Given the description of an element on the screen output the (x, y) to click on. 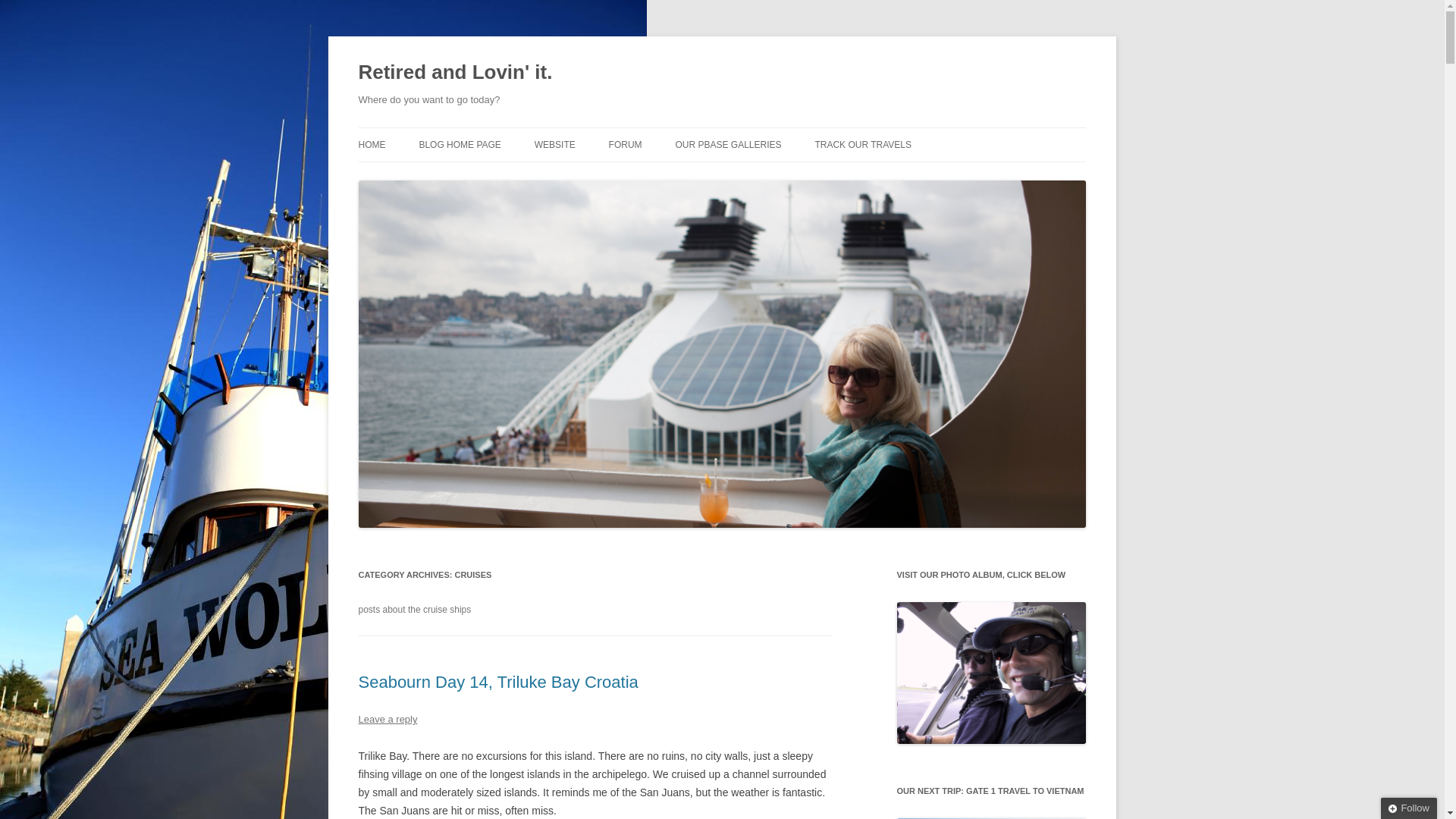
Retired and Lovin' it. (454, 72)
BLOG HOME PAGE (459, 144)
Leave a reply (387, 718)
FORUM (625, 144)
Seabourn Day 14, Triluke Bay Croatia (497, 681)
OUR PBASE GALLERIES (727, 144)
TRACK OUR TRAVELS (862, 144)
Retired and Lovin' it. (454, 72)
WEBSITE (554, 144)
